Given the description of an element on the screen output the (x, y) to click on. 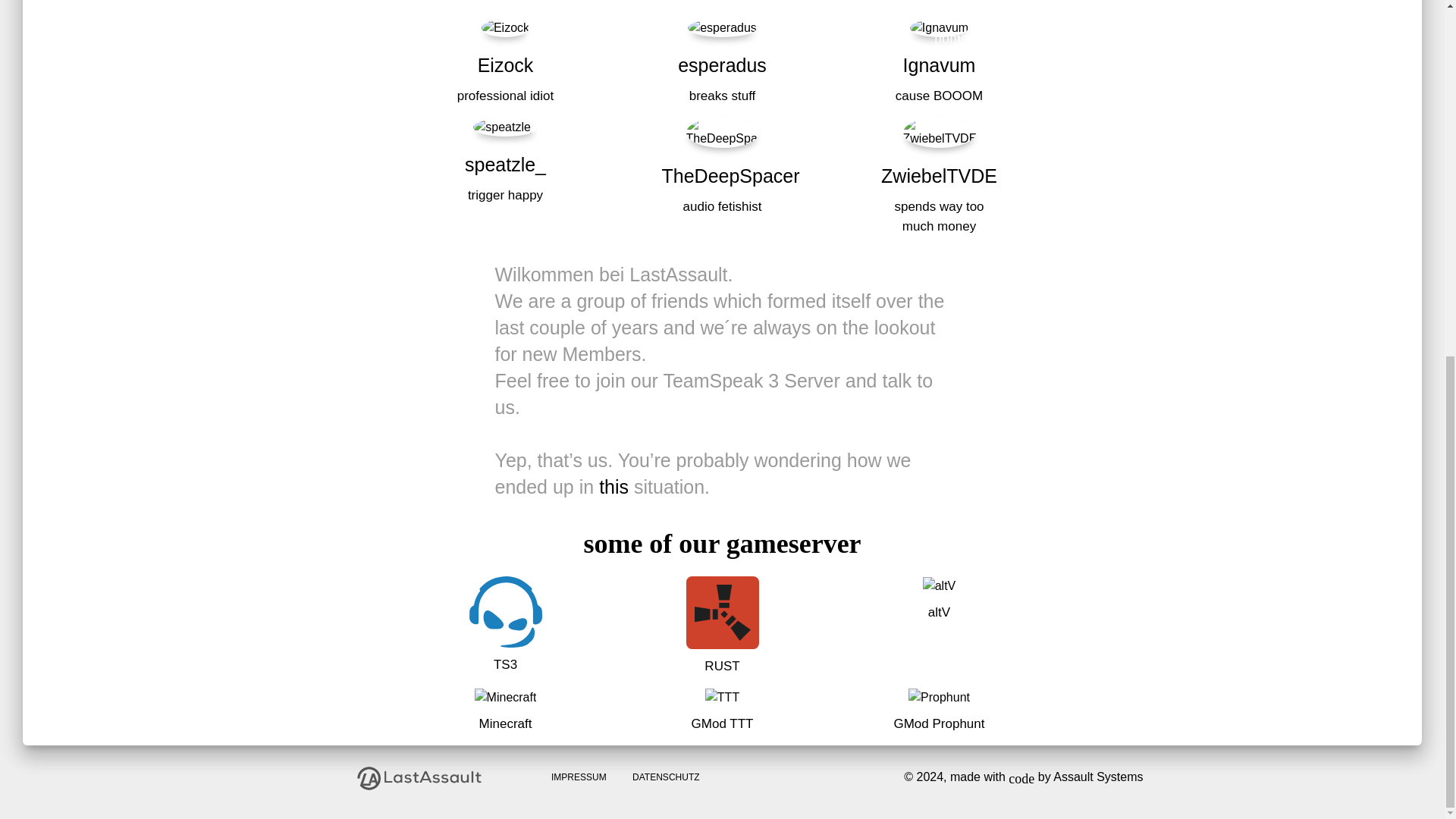
this (613, 486)
Assault Systems (1097, 776)
DATENSCHUTZ (665, 776)
IMPRESSUM (578, 776)
